Given the description of an element on the screen output the (x, y) to click on. 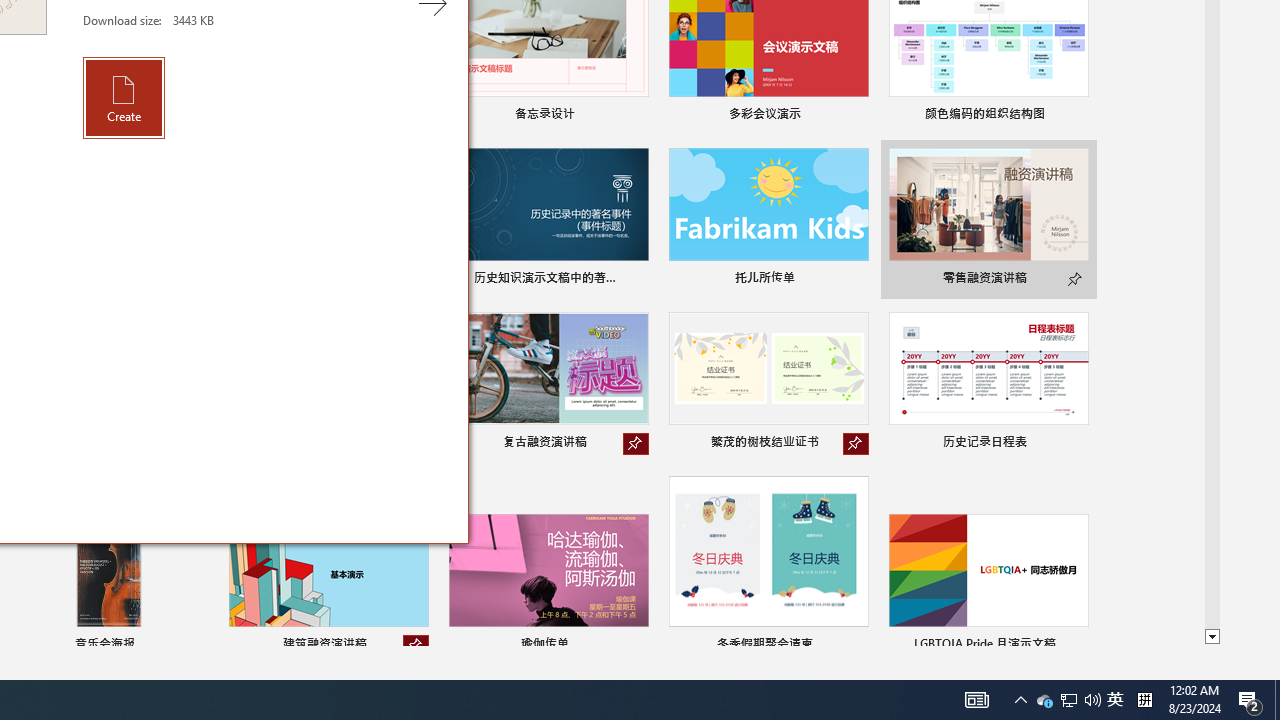
Pin to list (1075, 645)
Create (124, 97)
